Given the description of an element on the screen output the (x, y) to click on. 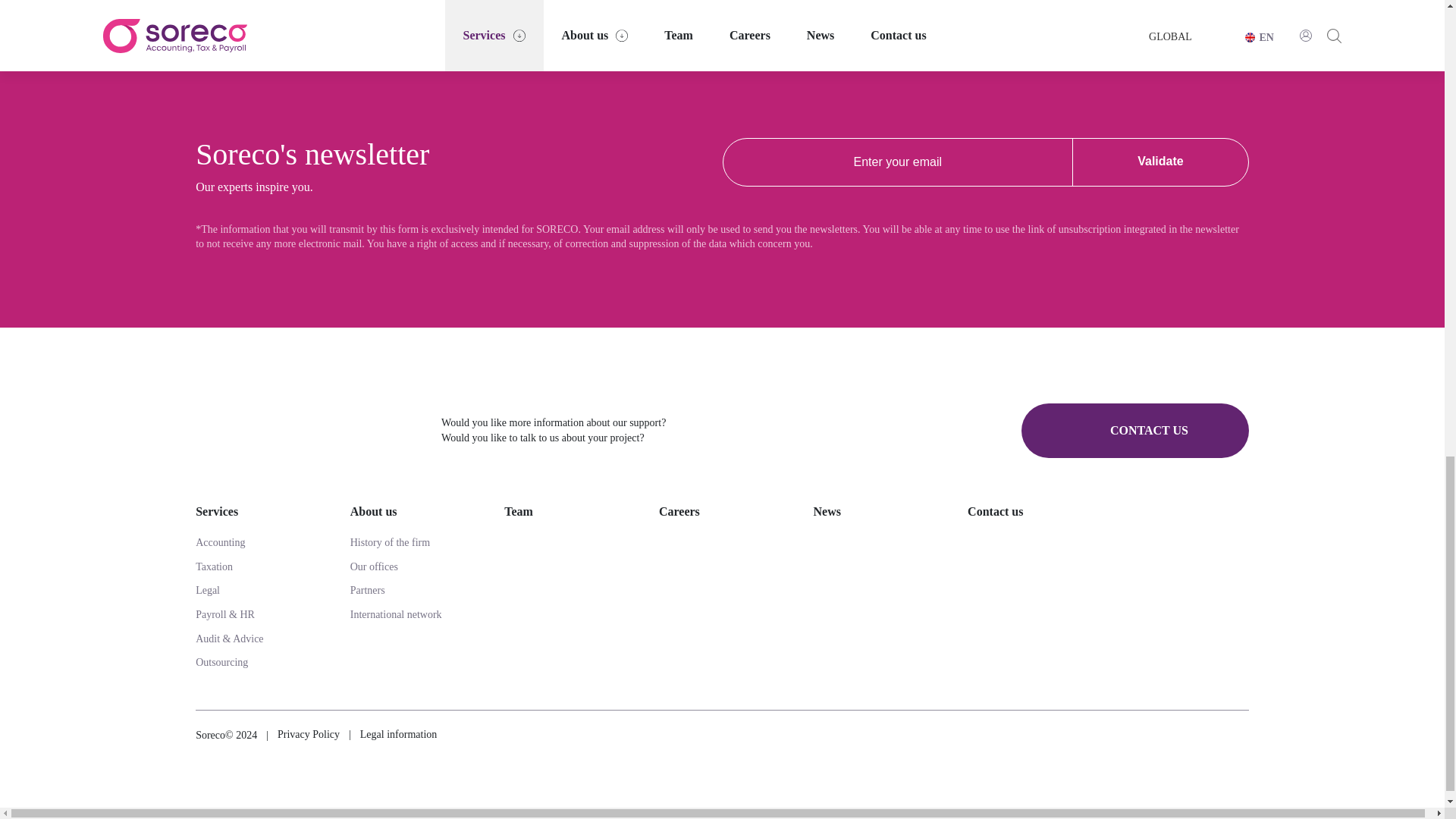
Linkedin (1242, 735)
Accueil (307, 430)
Twitter (1200, 734)
